Given the description of an element on the screen output the (x, y) to click on. 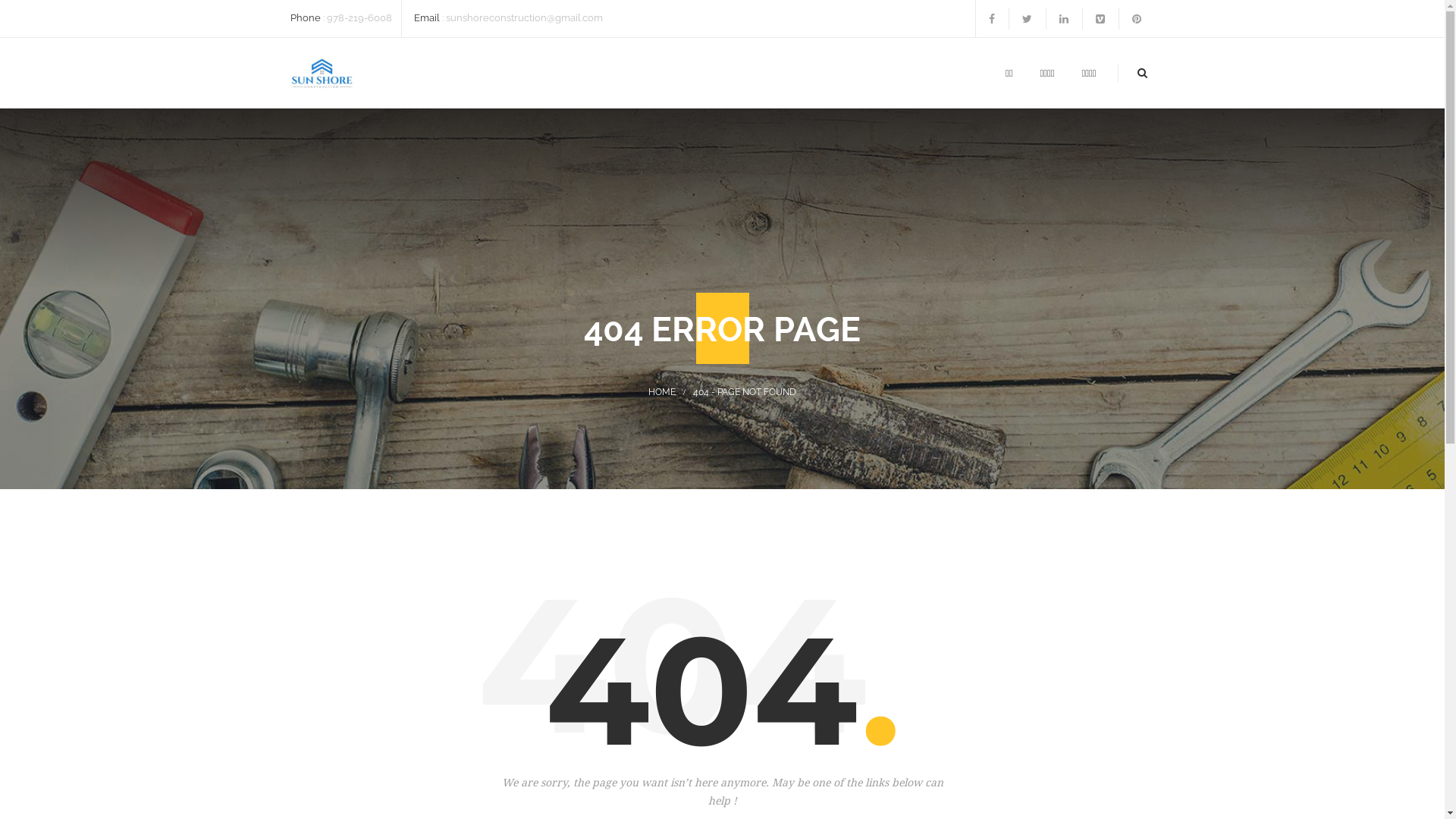
sunshoreconstruction@gmail.com Element type: text (523, 17)
978-219-6008 Element type: text (358, 17)
Search Element type: text (1126, 136)
